Given the description of an element on the screen output the (x, y) to click on. 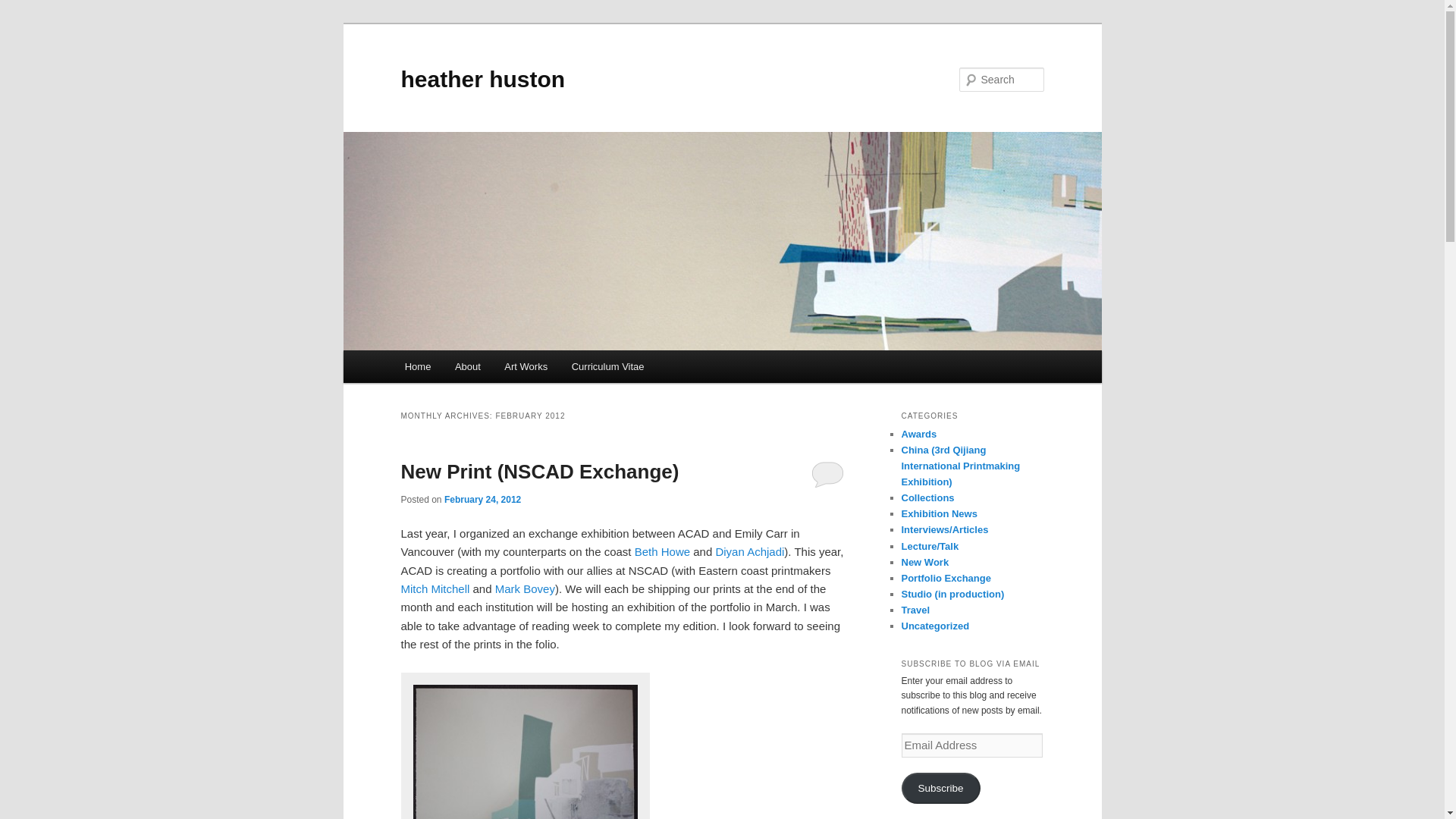
Mark Bovey (524, 588)
Beth Howe (662, 551)
9:45 pm (482, 499)
Mitch Mitchell (434, 588)
Art Works (526, 366)
Frost Juncture (525, 749)
heather huston (482, 78)
Diyan Achjadi (749, 551)
Awards (918, 433)
